Given the description of an element on the screen output the (x, y) to click on. 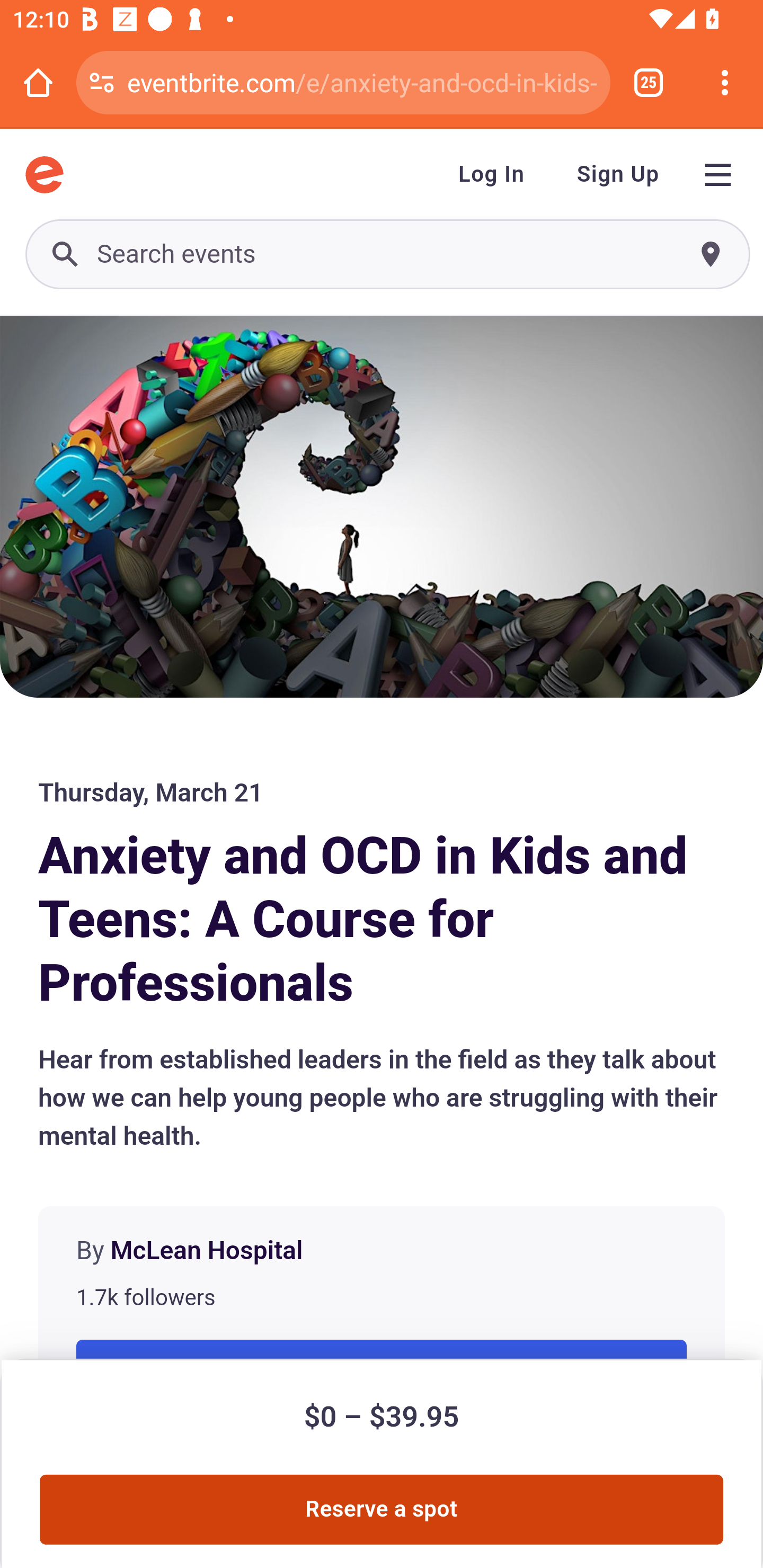
Open the home page (38, 82)
Connection is secure (101, 82)
Switch or close tabs (648, 82)
Customize and control Google Chrome (724, 82)
Log In (491, 174)
Sign Up (617, 174)
Home Eventbrite (44, 174)
Search (387, 253)
